Given the description of an element on the screen output the (x, y) to click on. 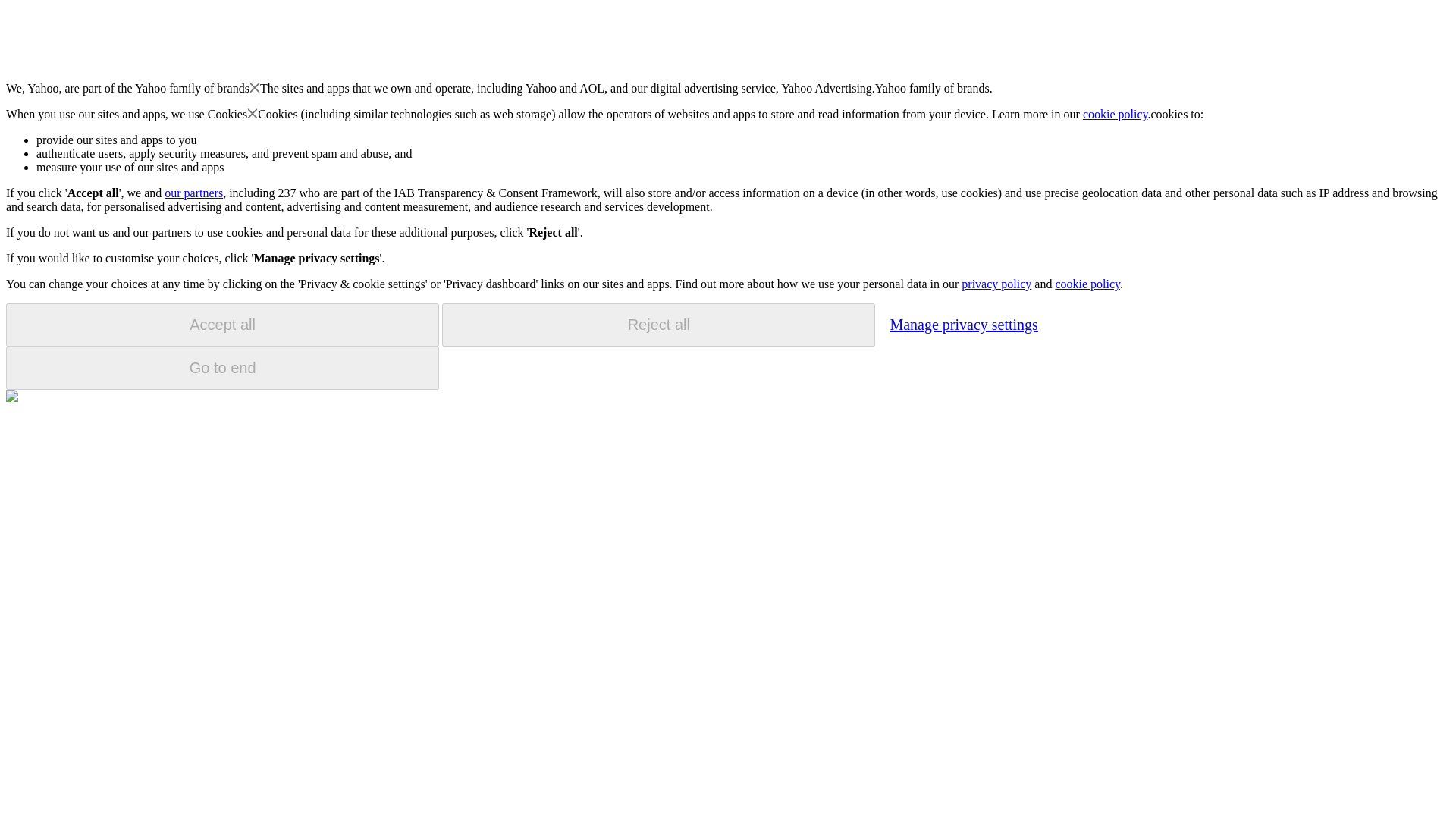
Accept all (222, 324)
Reject all (658, 324)
Manage privacy settings (963, 323)
privacy policy (995, 283)
our partners (193, 192)
cookie policy (1115, 113)
Go to end (222, 367)
cookie policy (1086, 283)
